Given the description of an element on the screen output the (x, y) to click on. 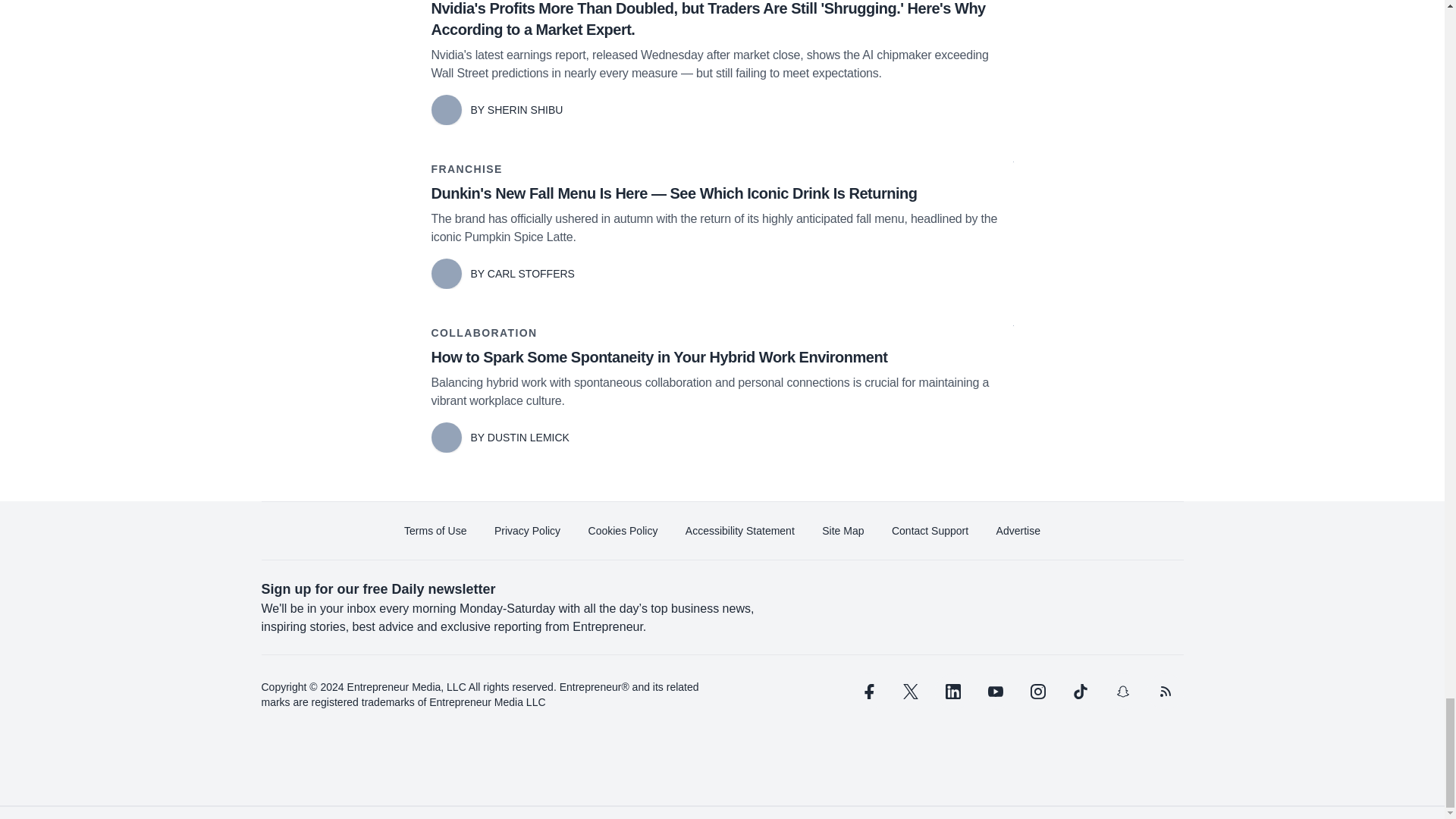
instagram (1037, 691)
twitter (909, 691)
tiktok (1079, 691)
snapchat (1121, 691)
youtube (994, 691)
linkedin (952, 691)
facebook (866, 691)
